Given the description of an element on the screen output the (x, y) to click on. 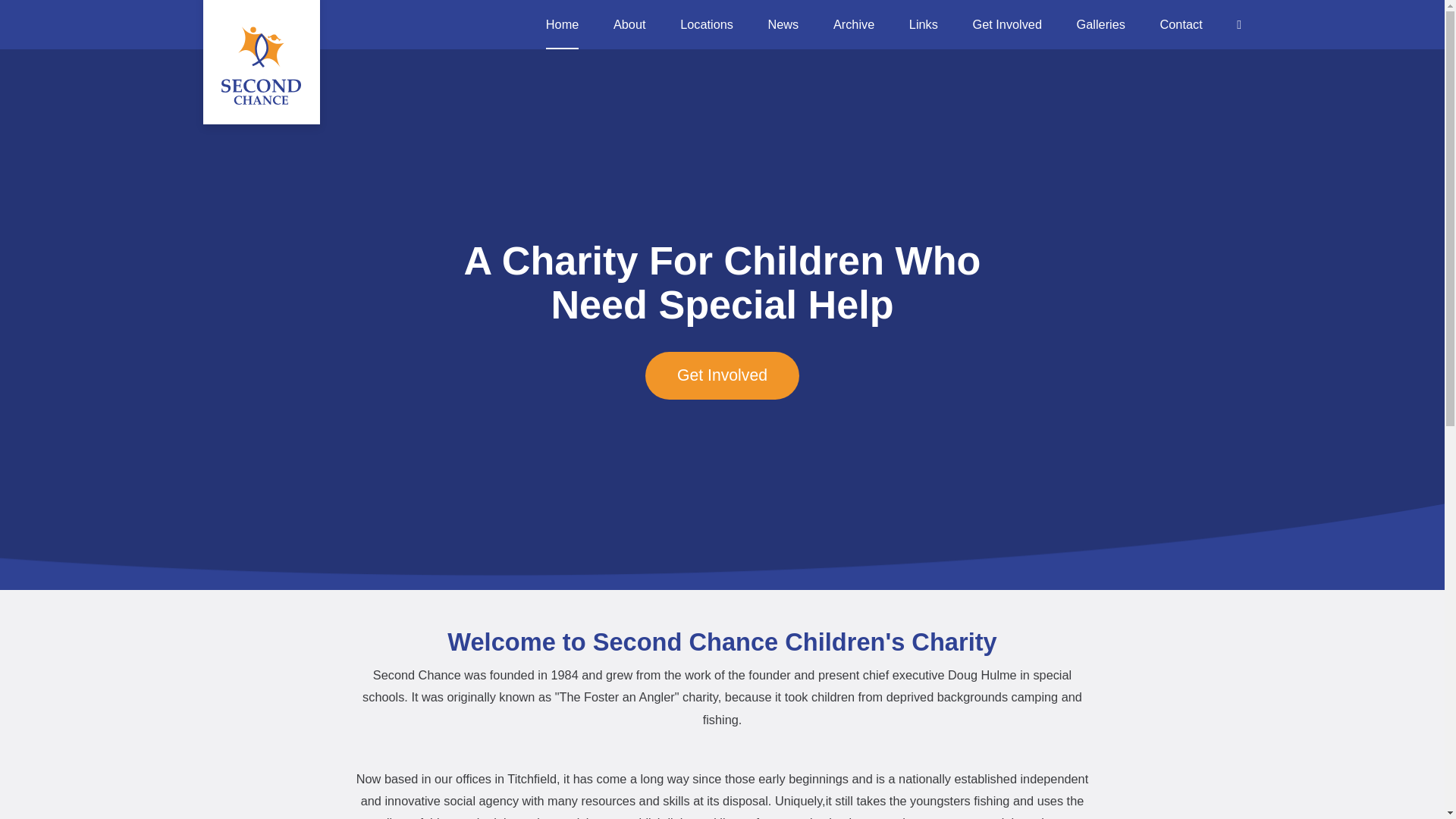
Get Involved (1007, 24)
Locations (706, 24)
Back to homepage (261, 62)
Get Involved (1007, 24)
Galleries (1101, 24)
Locations (706, 24)
Galleries (1101, 24)
Get Involved (722, 376)
